Given the description of an element on the screen output the (x, y) to click on. 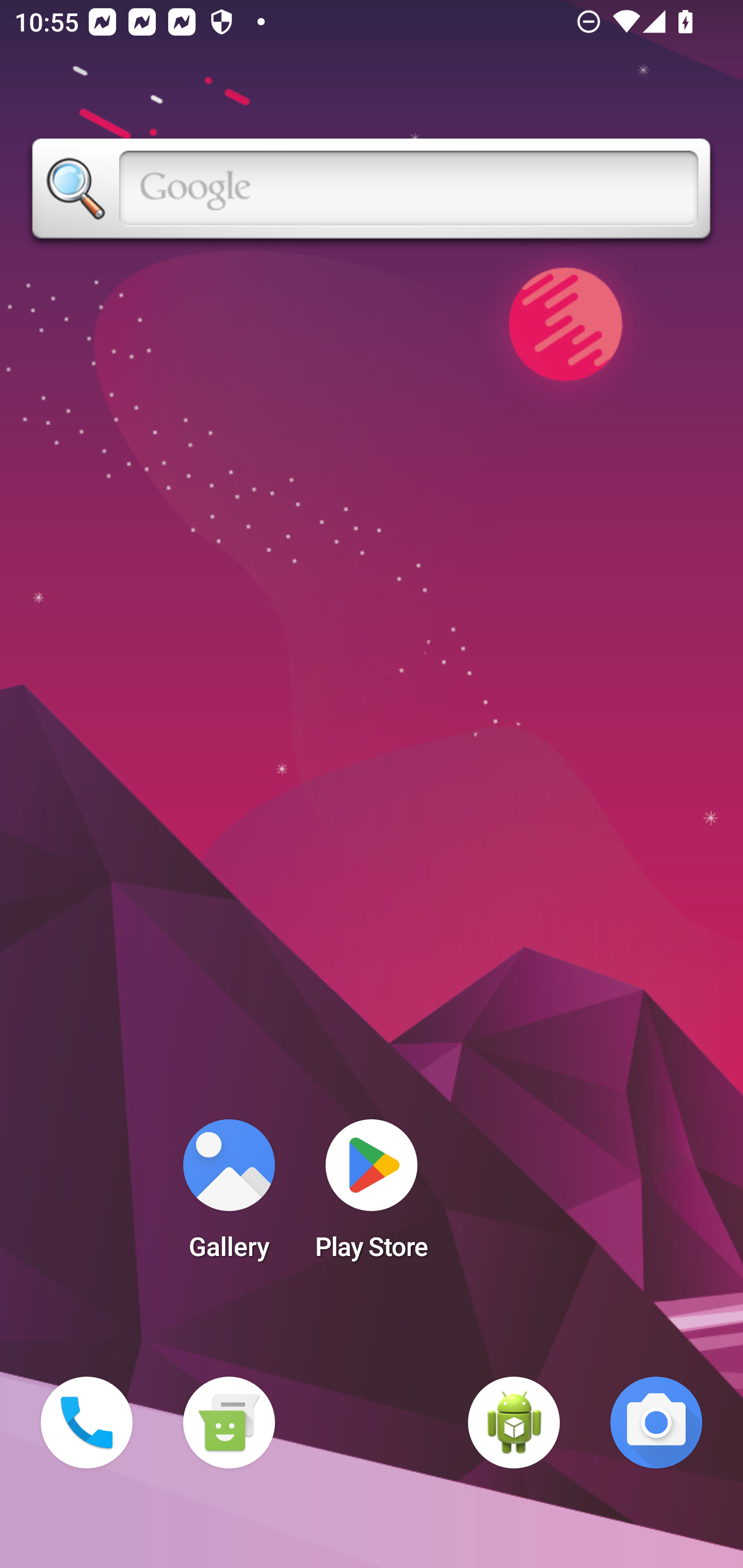
Gallery (228, 1195)
Play Store (371, 1195)
Phone (86, 1422)
Messaging (228, 1422)
WebView Browser Tester (513, 1422)
Camera (656, 1422)
